Given the description of an element on the screen output the (x, y) to click on. 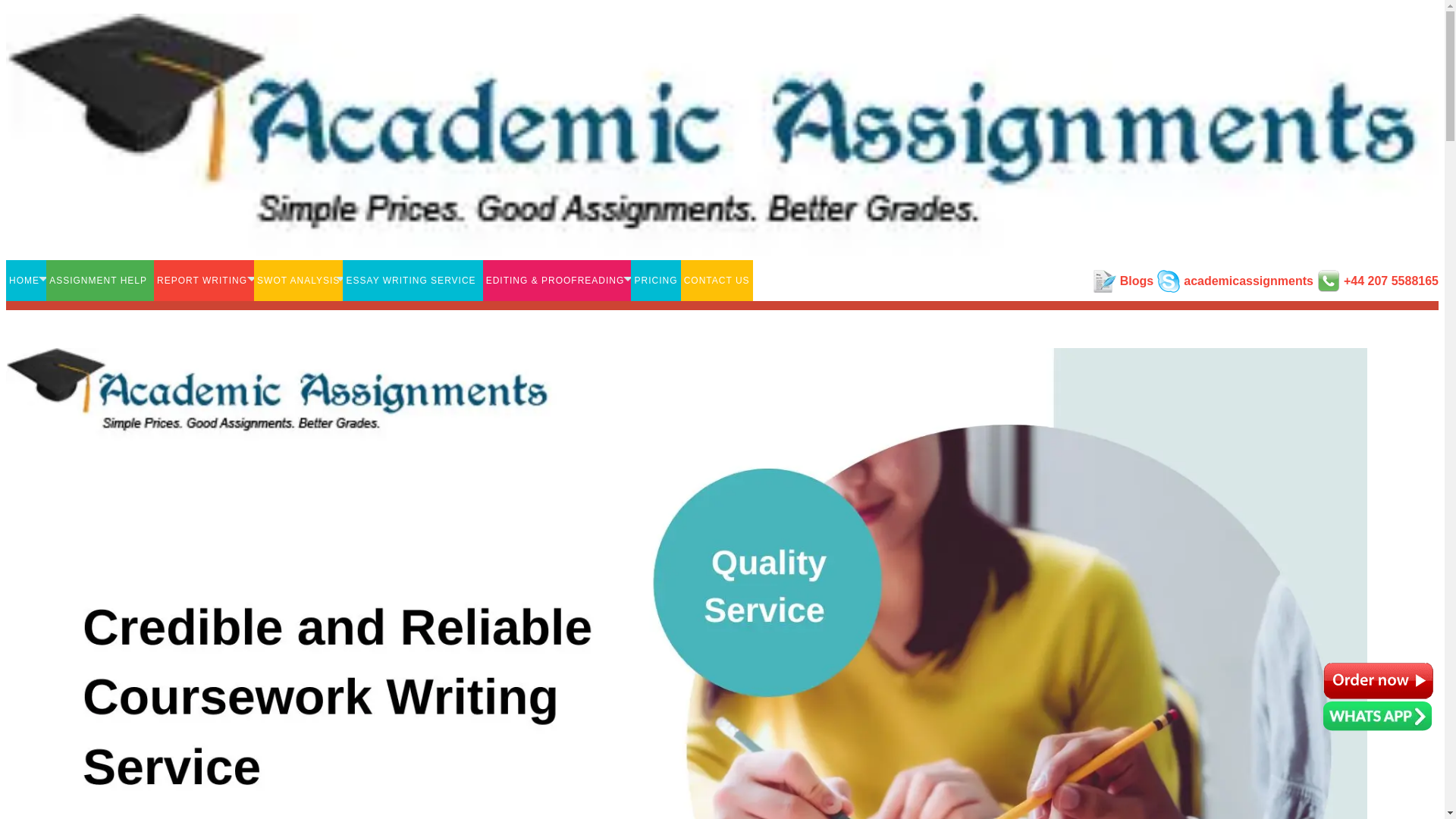
Blogs (1136, 280)
HOME (25, 280)
ASSIGNMENT HELP (100, 280)
academicassignments (1248, 280)
